Given the description of an element on the screen output the (x, y) to click on. 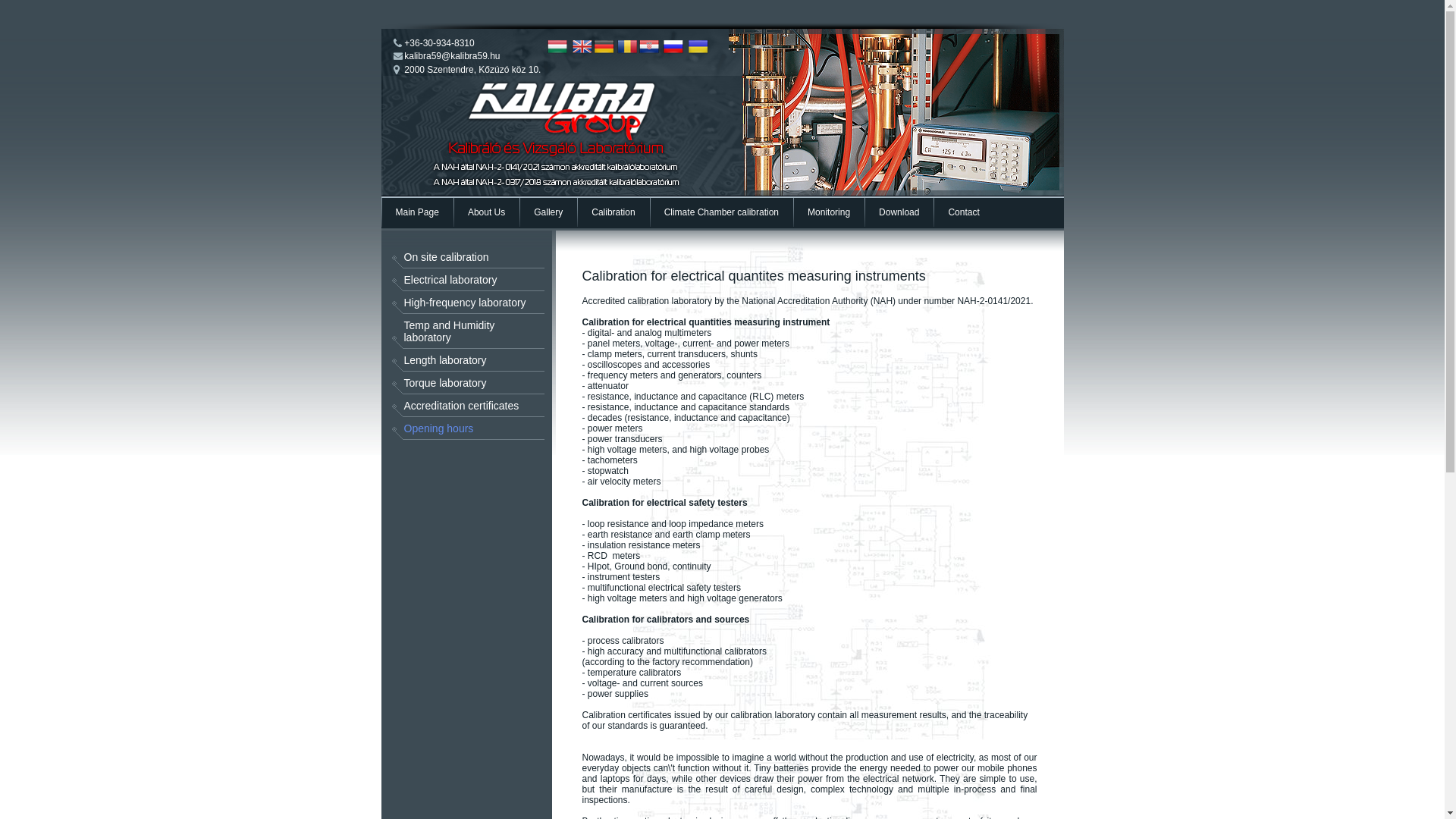
Climate Chamber calibration (721, 211)
Temp and Humidity laboratory (461, 330)
Calibration (613, 211)
Length laboratory (461, 359)
About Us (487, 211)
Accreditation certificates (461, 404)
Torque laboratory (461, 382)
Contact (963, 211)
Electrical laboratory (461, 279)
Download (898, 211)
High-frequency laboratory (461, 302)
On site calibration (461, 256)
Opening hours (461, 427)
Monitoring (829, 211)
Gallery (547, 211)
